Given the description of an element on the screen output the (x, y) to click on. 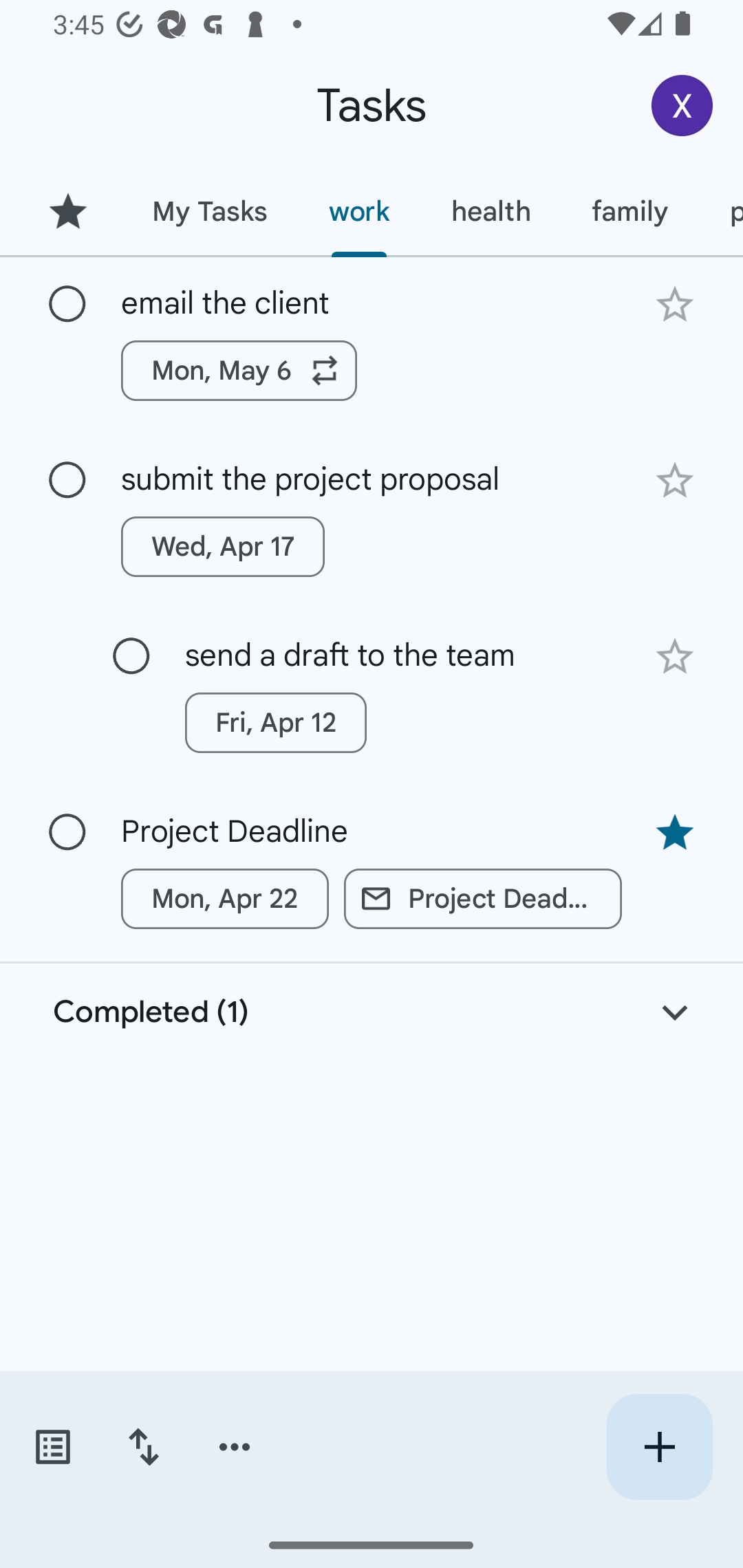
Starred (67, 211)
My Tasks (209, 211)
health (490, 211)
family (629, 211)
Add star (674, 303)
Mark as complete (67, 304)
Mon, May 6 (239, 369)
Add star (674, 480)
Mark as complete (67, 480)
Wed, Apr 17 (222, 546)
Add star (674, 656)
Mark as complete (131, 655)
Fri, Apr 12 (276, 722)
Remove star (674, 832)
Mark as complete (67, 833)
Mon, Apr 22 (225, 897)
Project Deadline Related link (482, 897)
Completed (1) (371, 1011)
Switch task lists (52, 1447)
Create new task (659, 1446)
Change sort order (143, 1446)
More options (234, 1446)
